Given the description of an element on the screen output the (x, y) to click on. 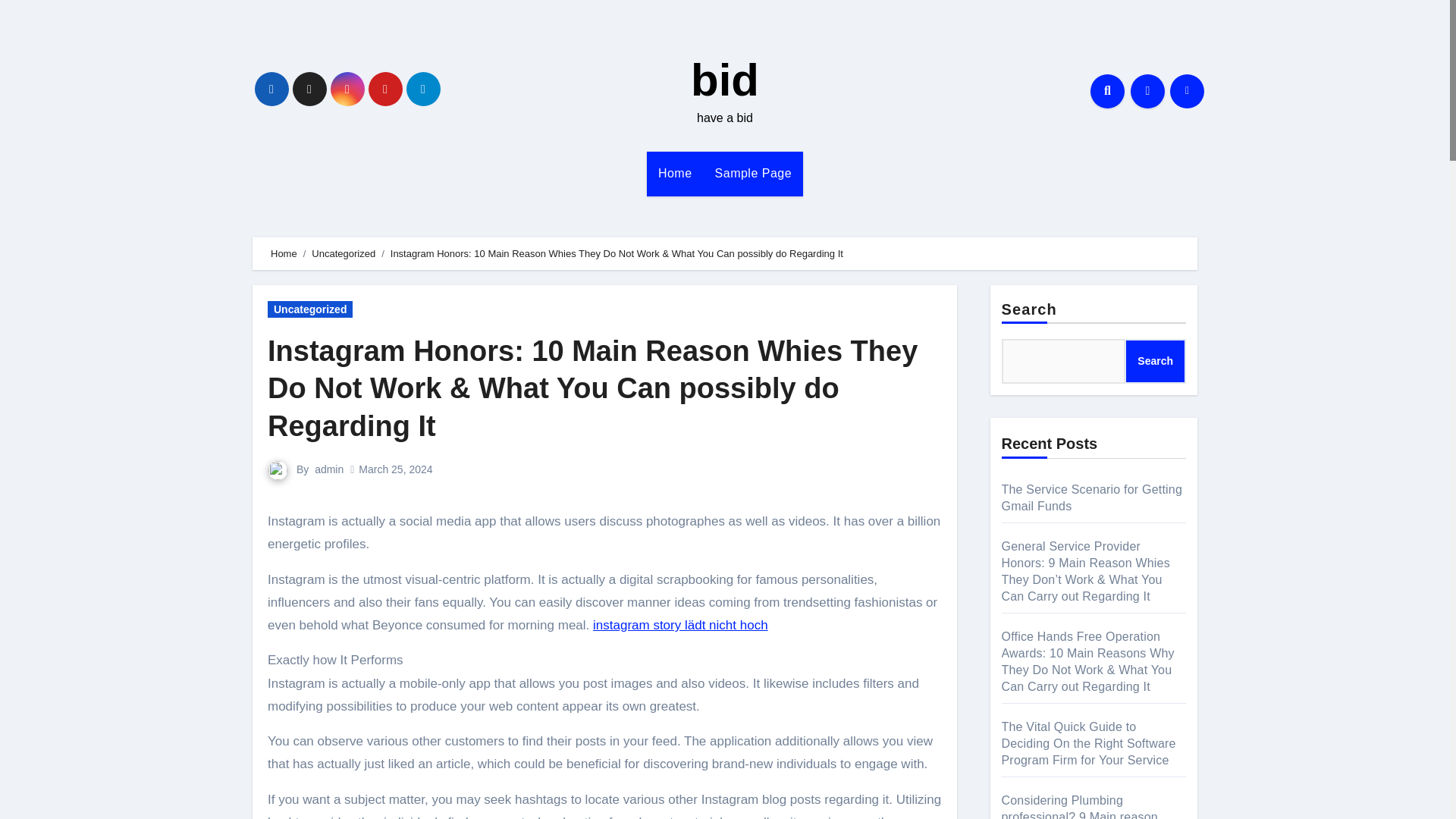
Home (674, 173)
Home (674, 173)
Home (283, 253)
admin (328, 469)
Uncategorized (343, 253)
bid (724, 79)
March 25, 2024 (395, 469)
Uncategorized (309, 309)
Sample Page (753, 173)
